Given the description of an element on the screen output the (x, y) to click on. 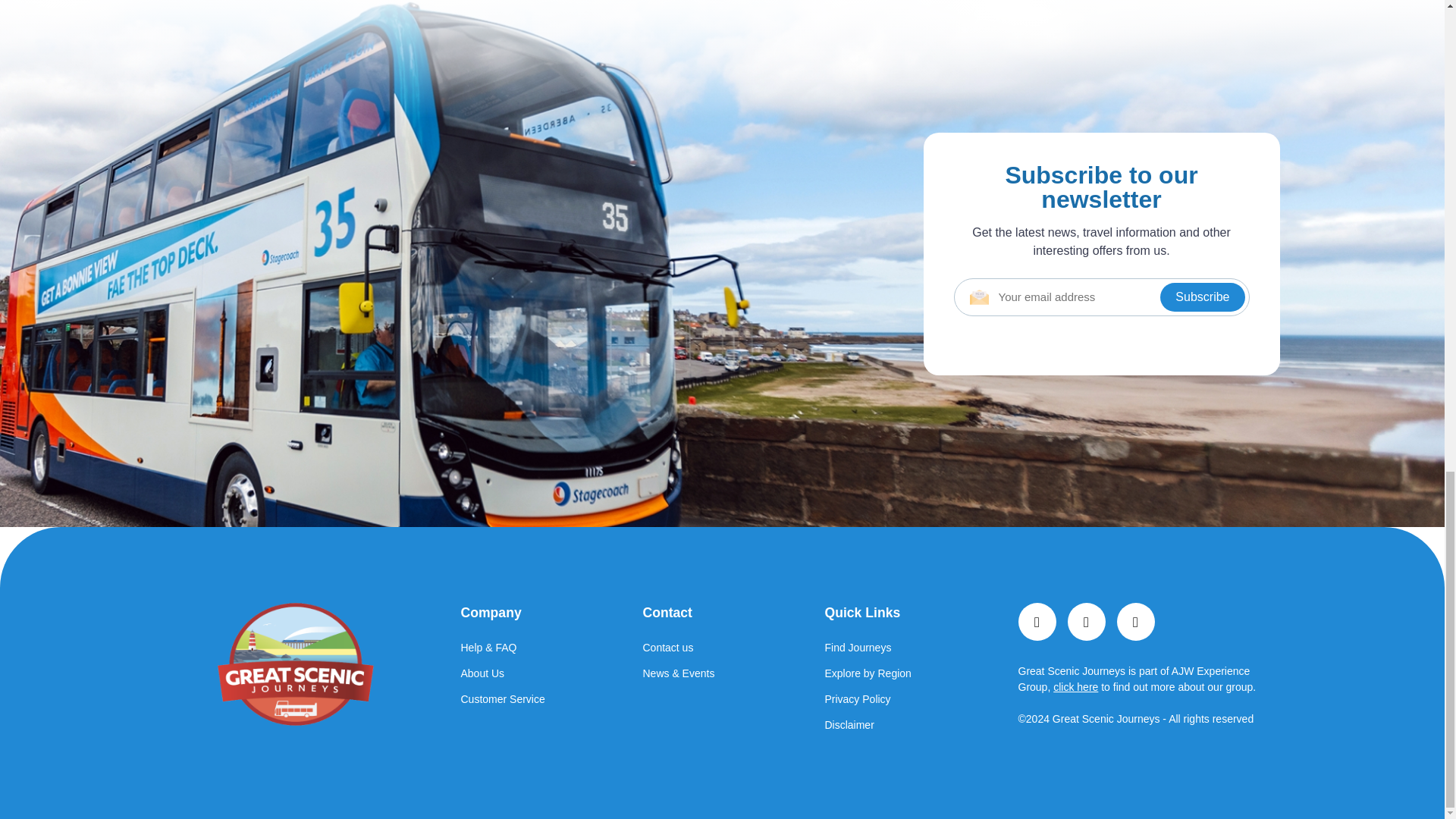
Subscribe (1202, 297)
